Given the description of an element on the screen output the (x, y) to click on. 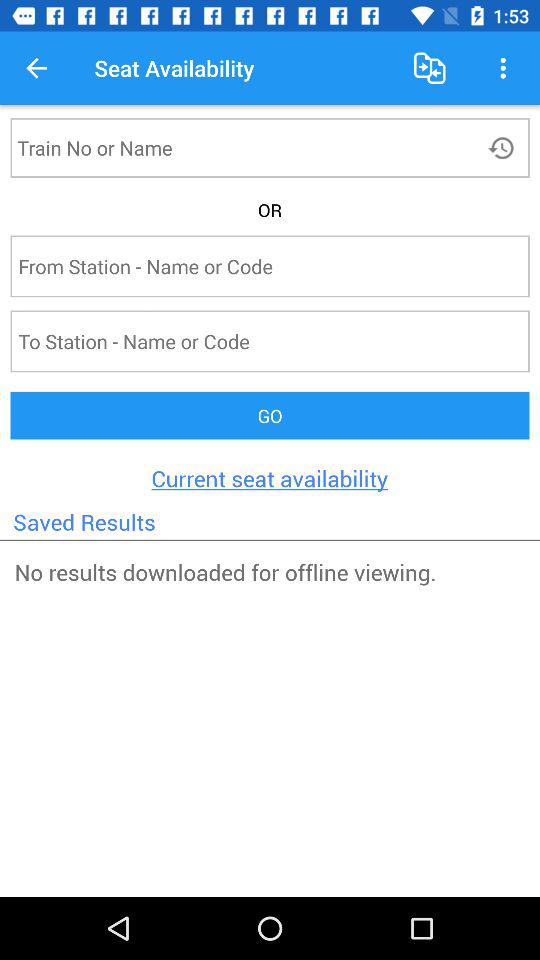
open the icon above or (503, 147)
